Given the description of an element on the screen output the (x, y) to click on. 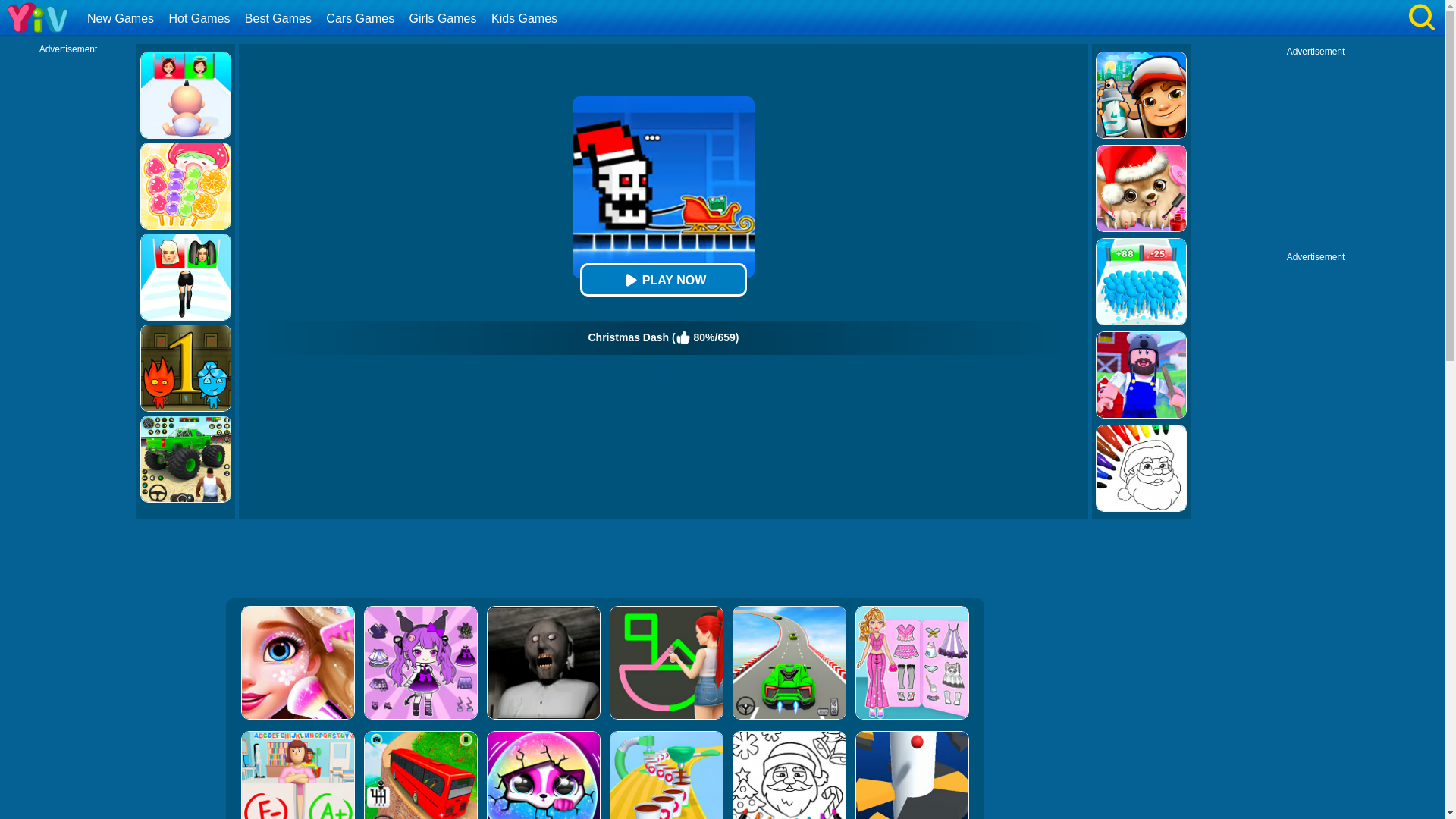
PLAY NOW (662, 279)
Advertisement (603, 560)
Advertisement (1315, 152)
Cars Games (361, 18)
Girls Games (445, 18)
Hot Games (200, 18)
New Games (121, 18)
Kids Games (525, 18)
Best Games (279, 18)
